Given the description of an element on the screen output the (x, y) to click on. 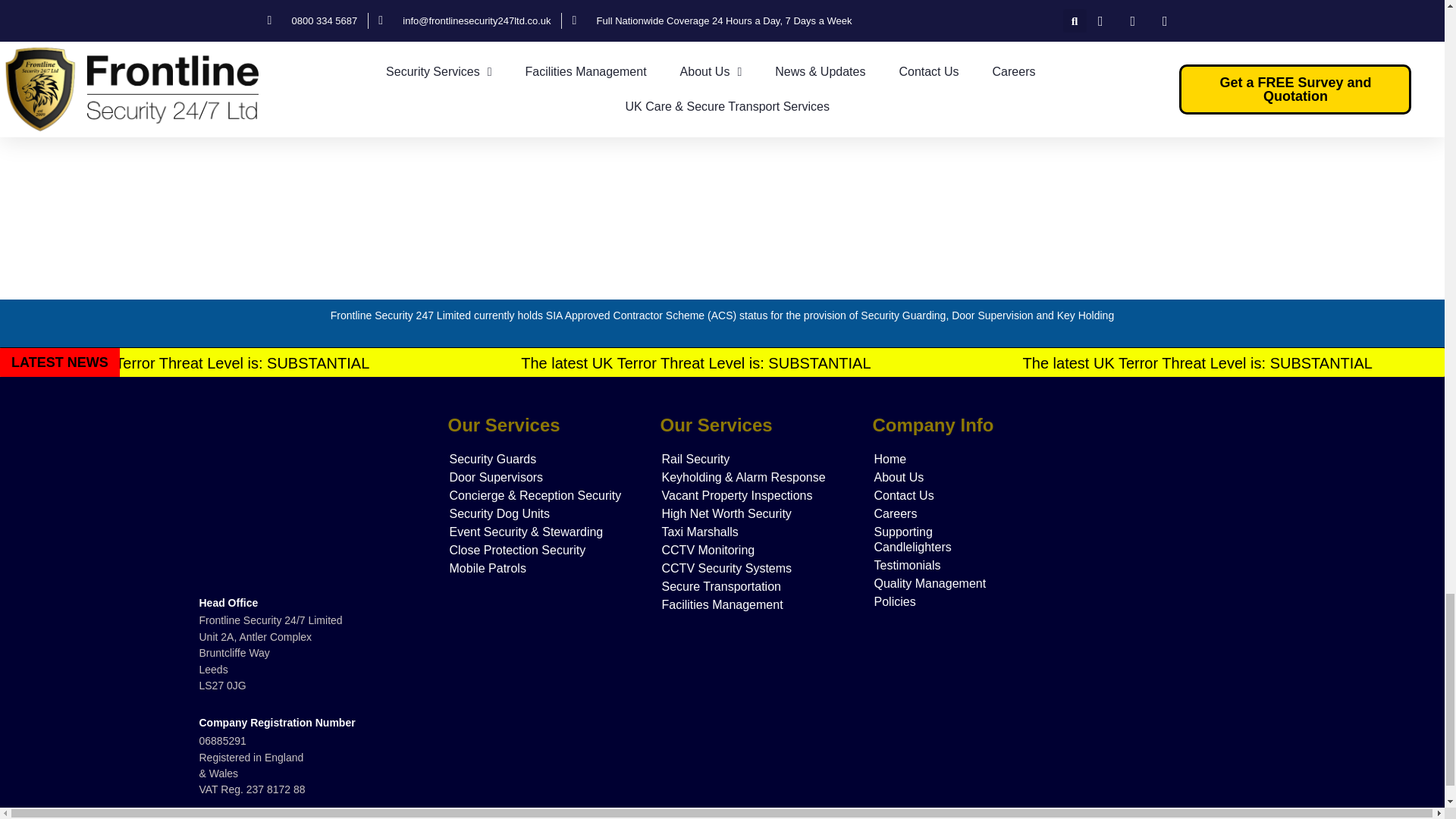
Customer reviews powered by Trustpilot (1146, 701)
